Given the description of an element on the screen output the (x, y) to click on. 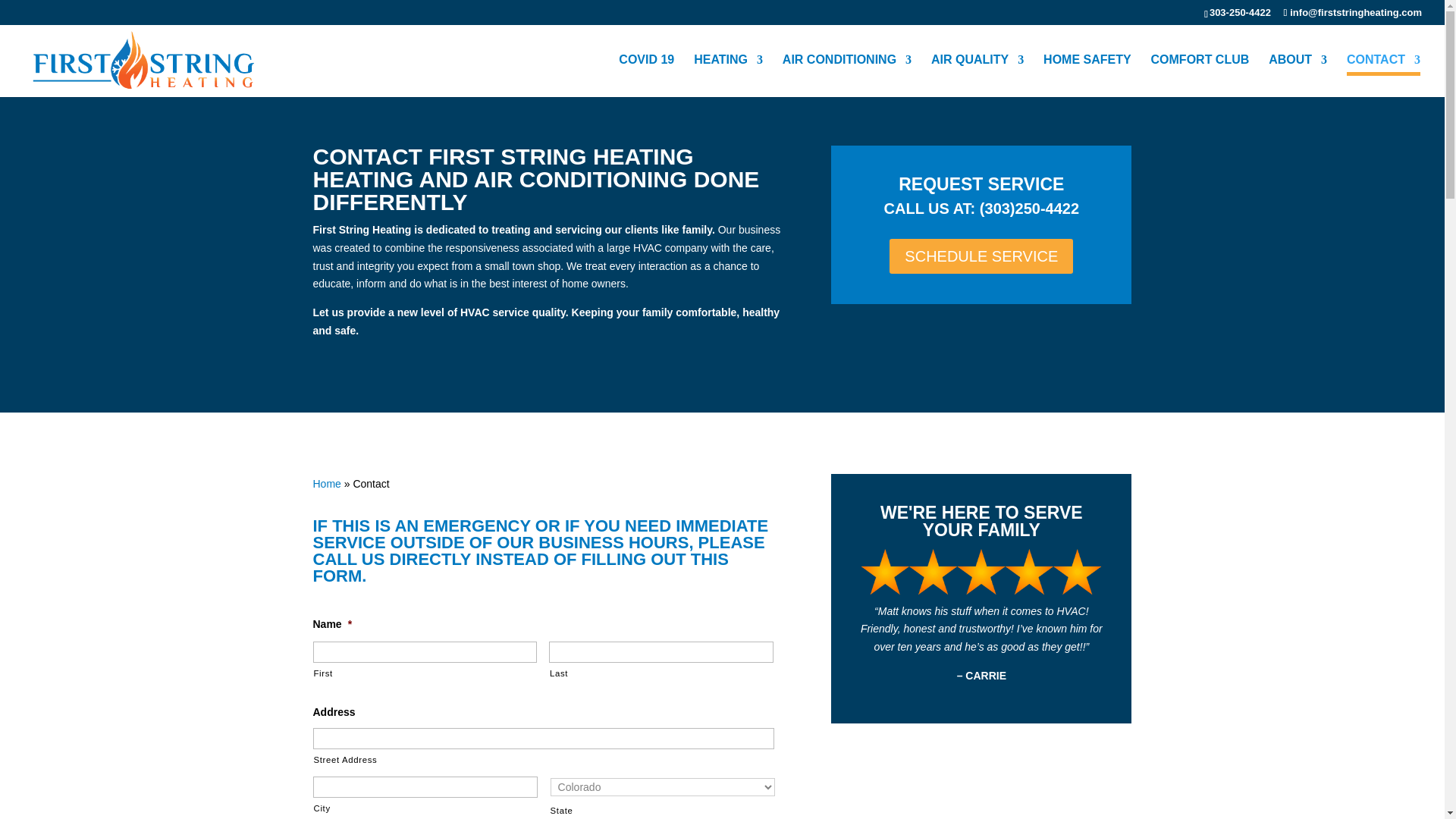
AIR QUALITY (977, 75)
ABOUT (1297, 75)
HOME SAFETY (1087, 75)
COMFORT CLUB (1200, 75)
HEATING (728, 75)
AIR CONDITIONING (847, 75)
Home (326, 483)
COVID 19 (646, 75)
CONTACT (1383, 75)
SCHEDULE SERVICE (981, 256)
